Given the description of an element on the screen output the (x, y) to click on. 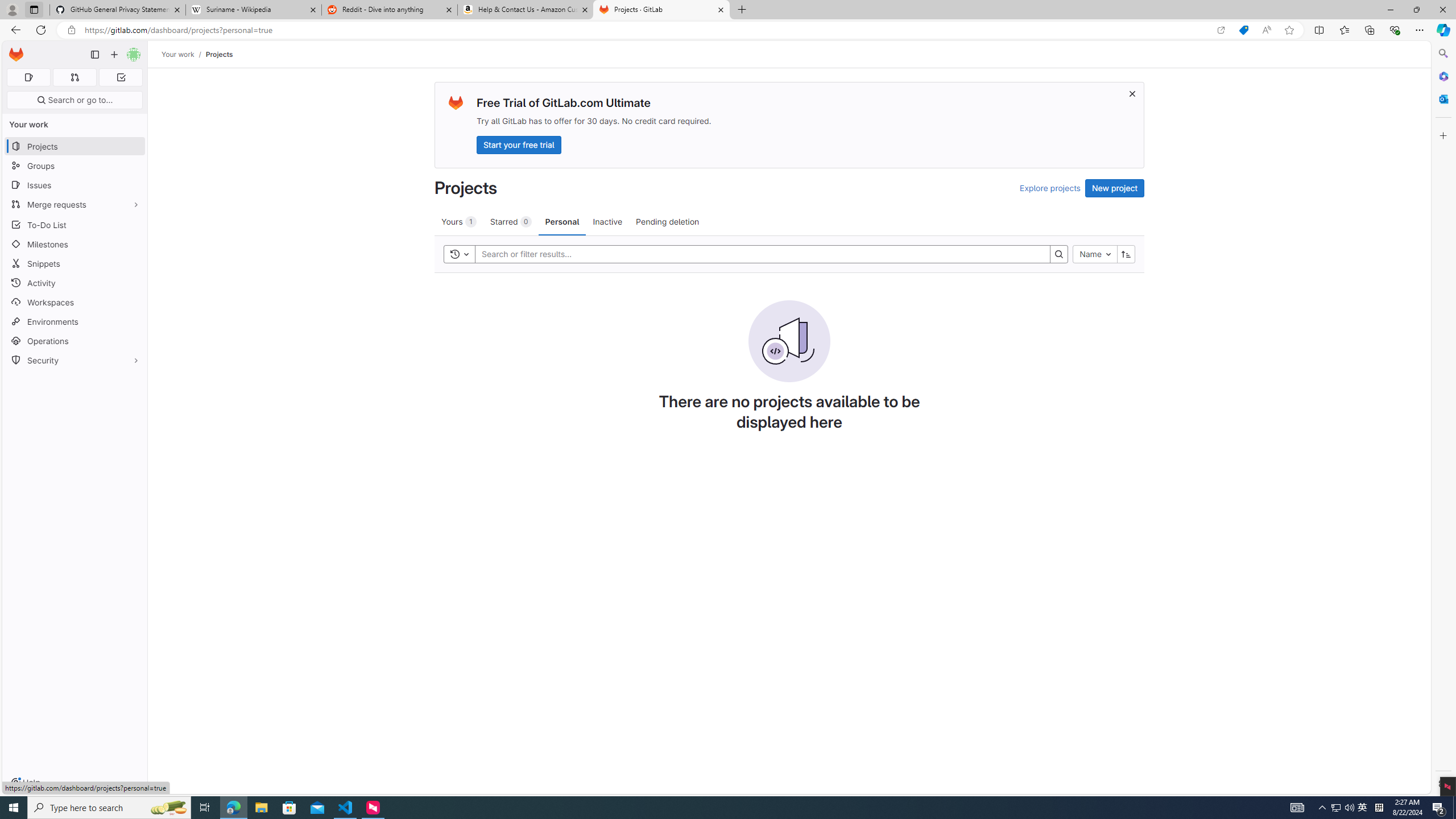
Suriname - Wikipedia (253, 9)
Issues (74, 185)
Sort direction: Ascending (1125, 253)
To-Do List (74, 224)
Open in app (1220, 29)
Toggle history (460, 253)
New project (1114, 187)
